Given the description of an element on the screen output the (x, y) to click on. 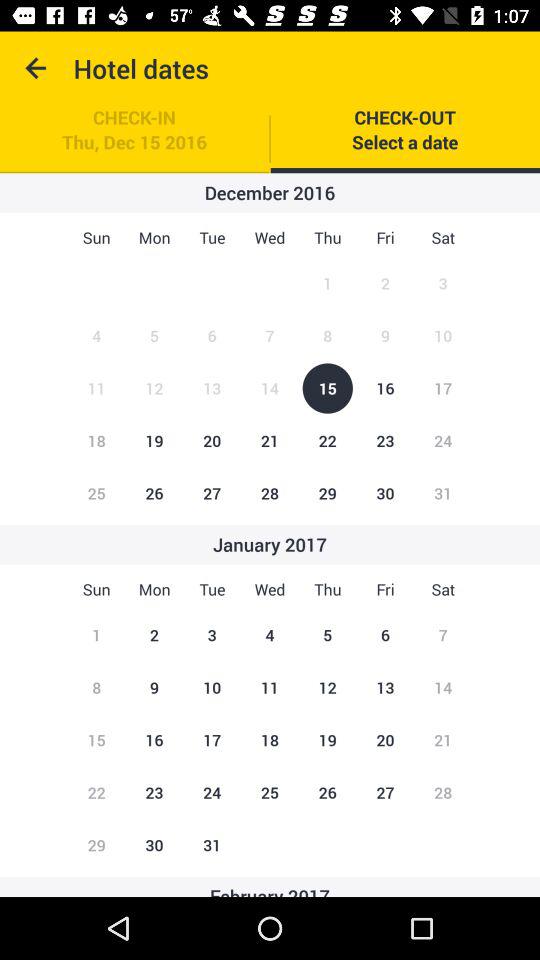
select the number 28 (269, 493)
select the date 11 december 2016 (96, 387)
select the number 11 in january 2017 (269, 688)
number called 1 below the text sun (96, 635)
click on number 23 in december 2016 (385, 440)
select the date 2 which is below fri (385, 283)
click on the figure beside the number 9 (442, 335)
click on the button 9 under december 2016 (385, 335)
